Given the description of an element on the screen output the (x, y) to click on. 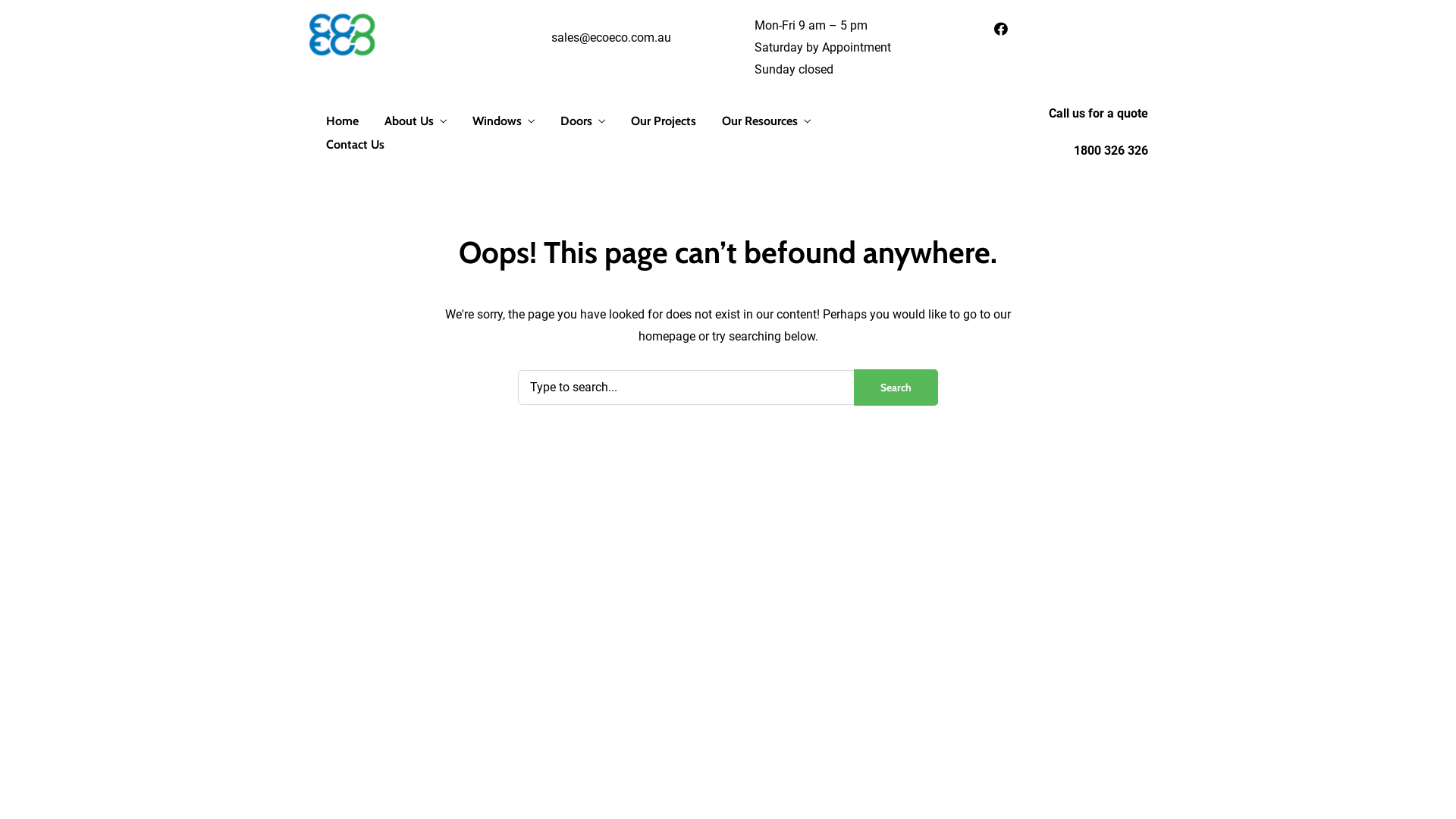
About Us Element type: text (415, 122)
sales@ecoeco.com.au Element type: text (611, 37)
Search Element type: text (895, 387)
Home Element type: text (342, 121)
Doors Element type: text (582, 122)
Windows Element type: text (503, 122)
Our Projects Element type: text (663, 121)
Our Resources Element type: text (765, 122)
Contact Us Element type: text (355, 145)
